Given the description of an element on the screen output the (x, y) to click on. 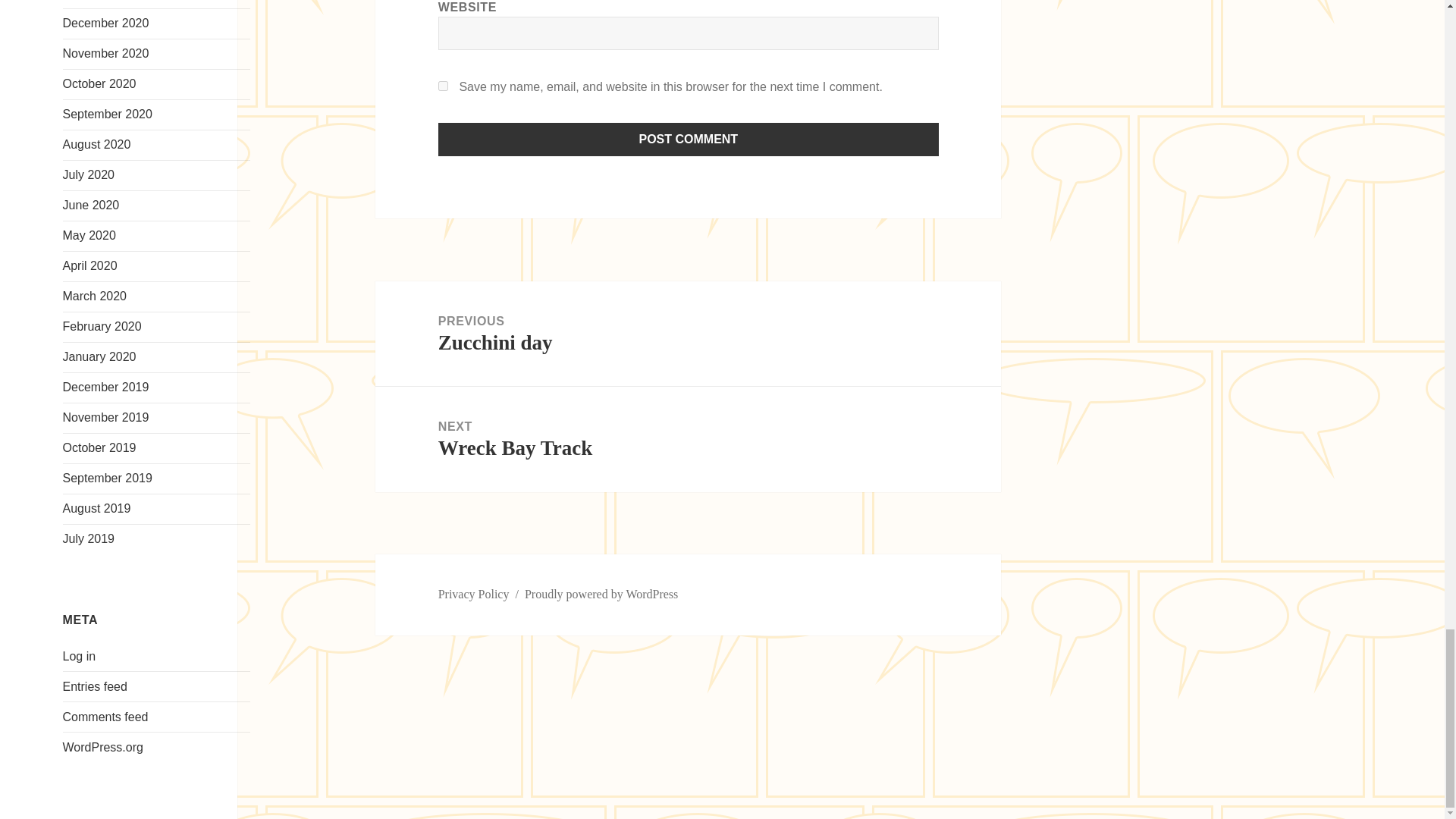
yes (443, 85)
Post Comment (688, 139)
